Given the description of an element on the screen output the (x, y) to click on. 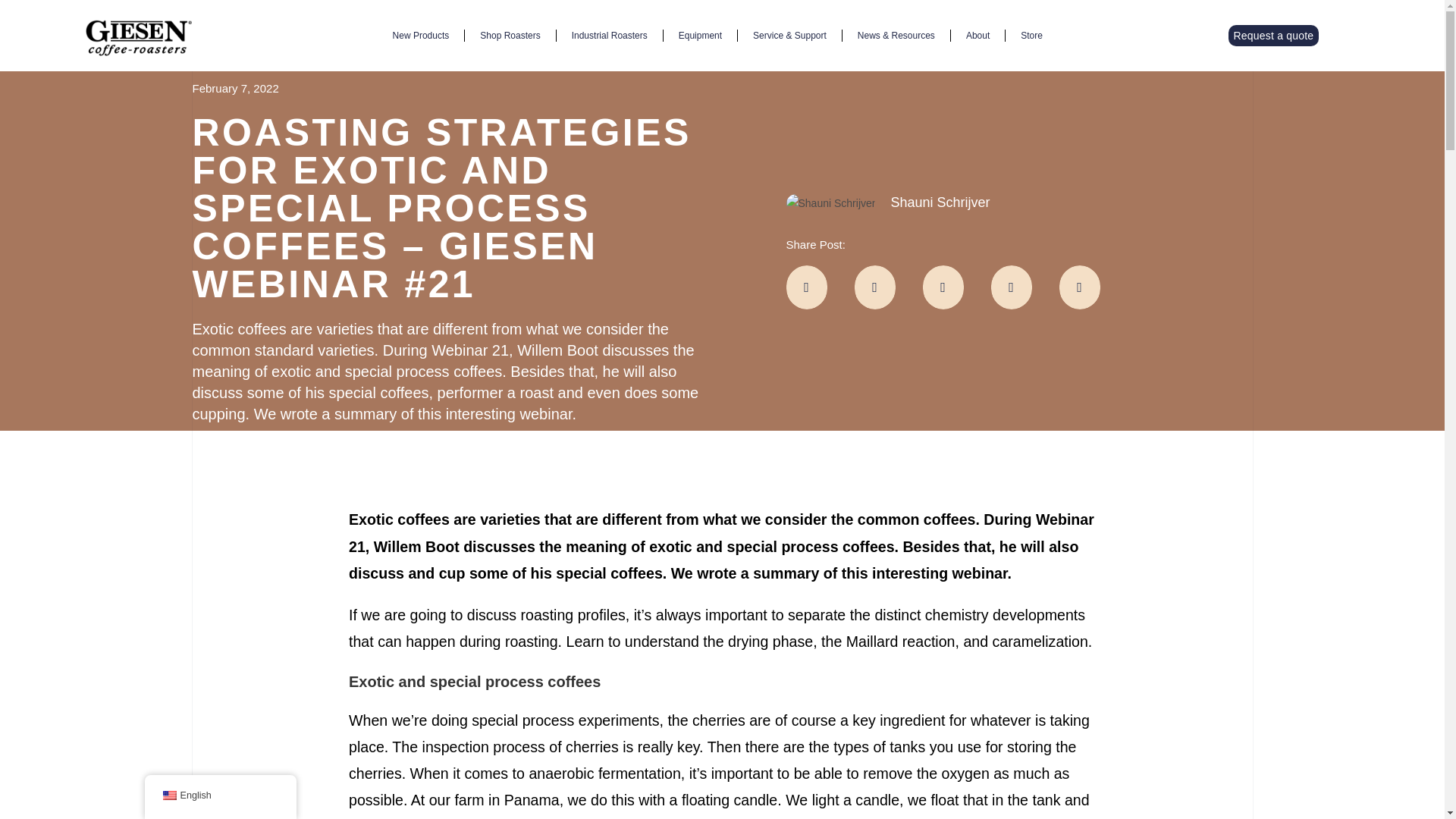
English (168, 795)
Equipment (699, 35)
About (977, 35)
Industrial Roasters (609, 35)
Shop Roasters (509, 35)
New Products (420, 35)
